Given the description of an element on the screen output the (x, y) to click on. 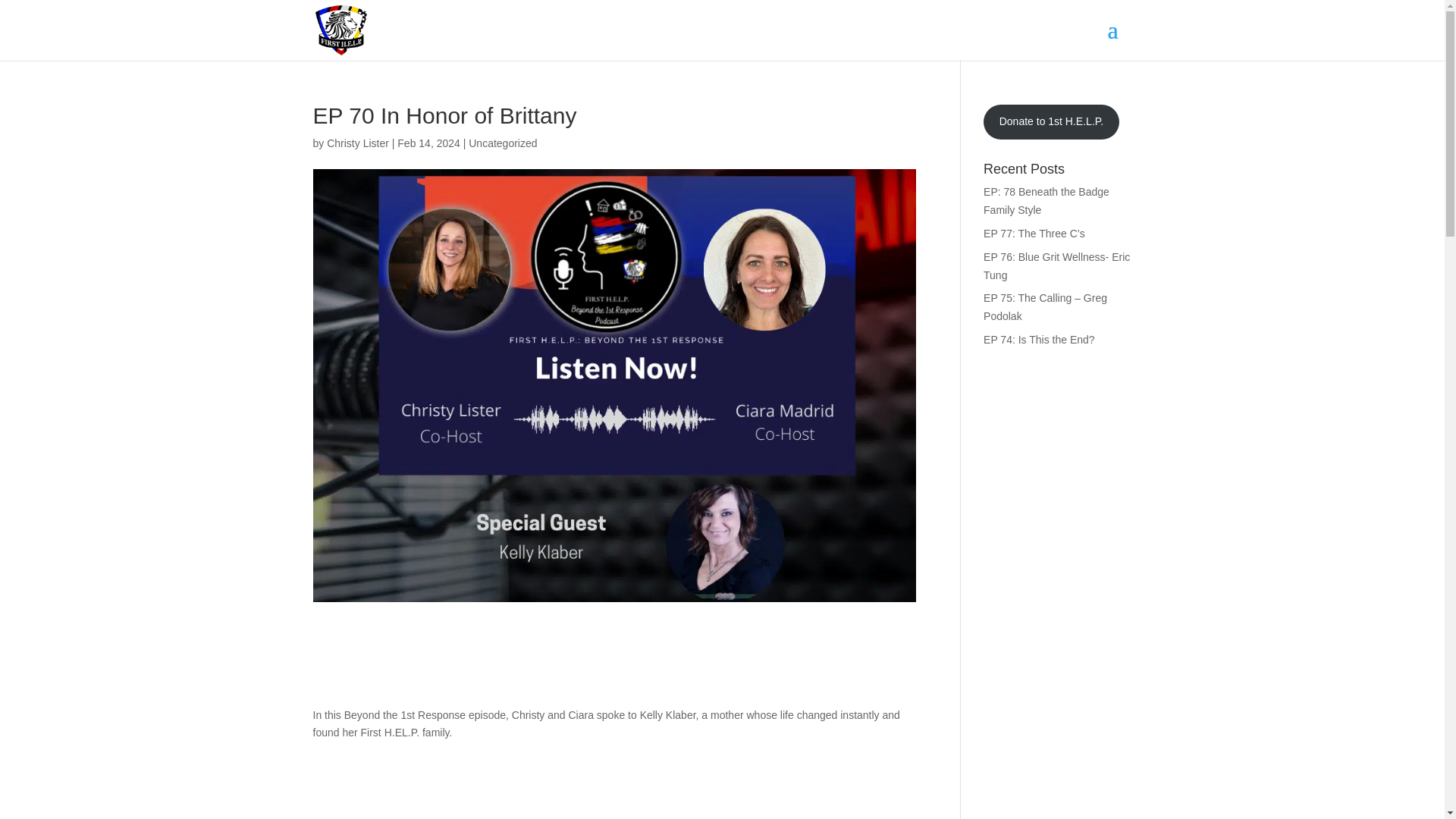
Donate to 1st H.E.L.P. (1051, 121)
Uncategorized (502, 143)
Christy Lister (357, 143)
EP: 78 Beneath the Badge Family Style (1046, 200)
Posts by Christy Lister (357, 143)
